Given the description of an element on the screen output the (x, y) to click on. 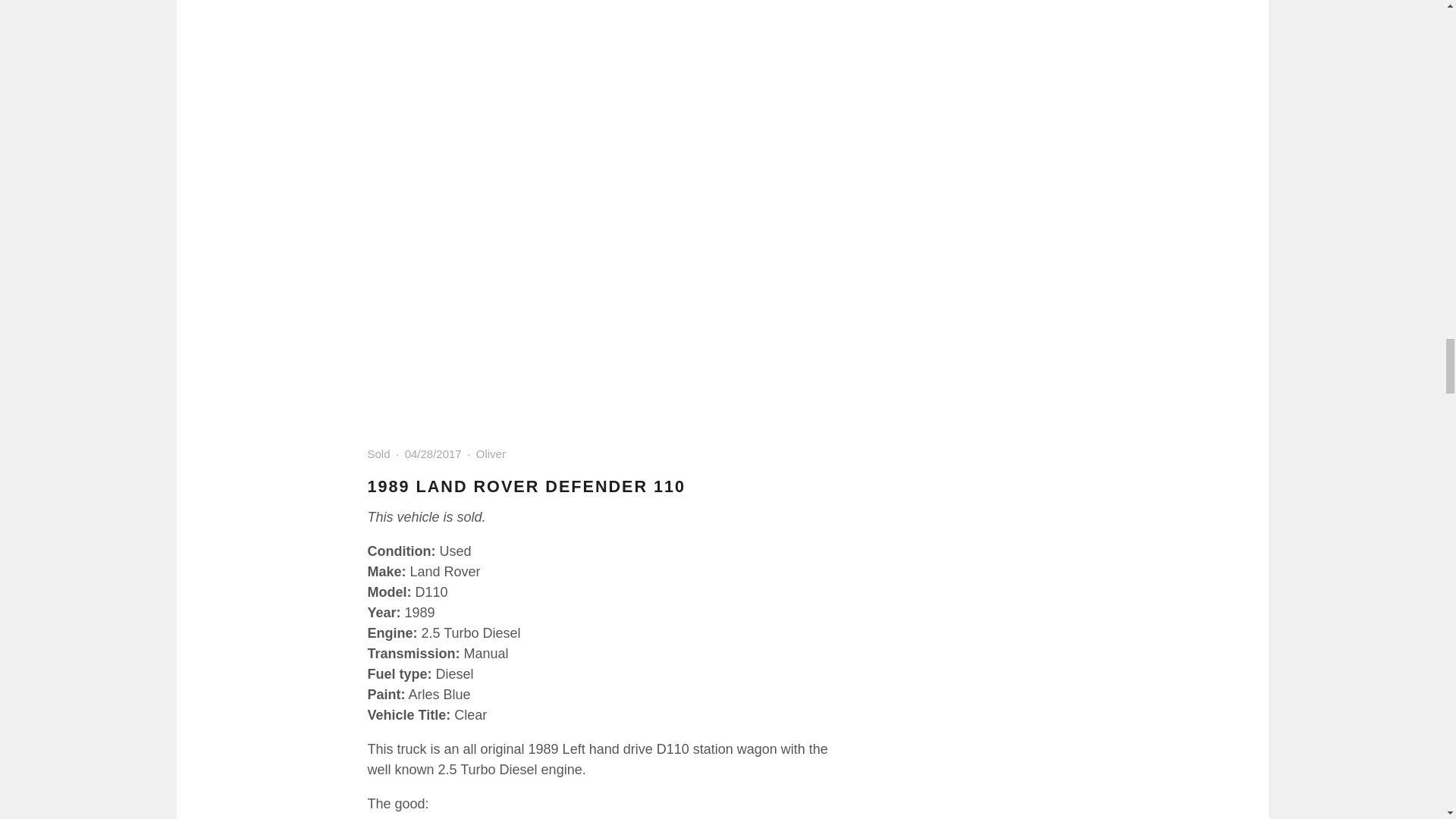
1989 LAND ROVER DEFENDER 110 (525, 486)
Oliver (490, 453)
Sold (378, 453)
